Given the description of an element on the screen output the (x, y) to click on. 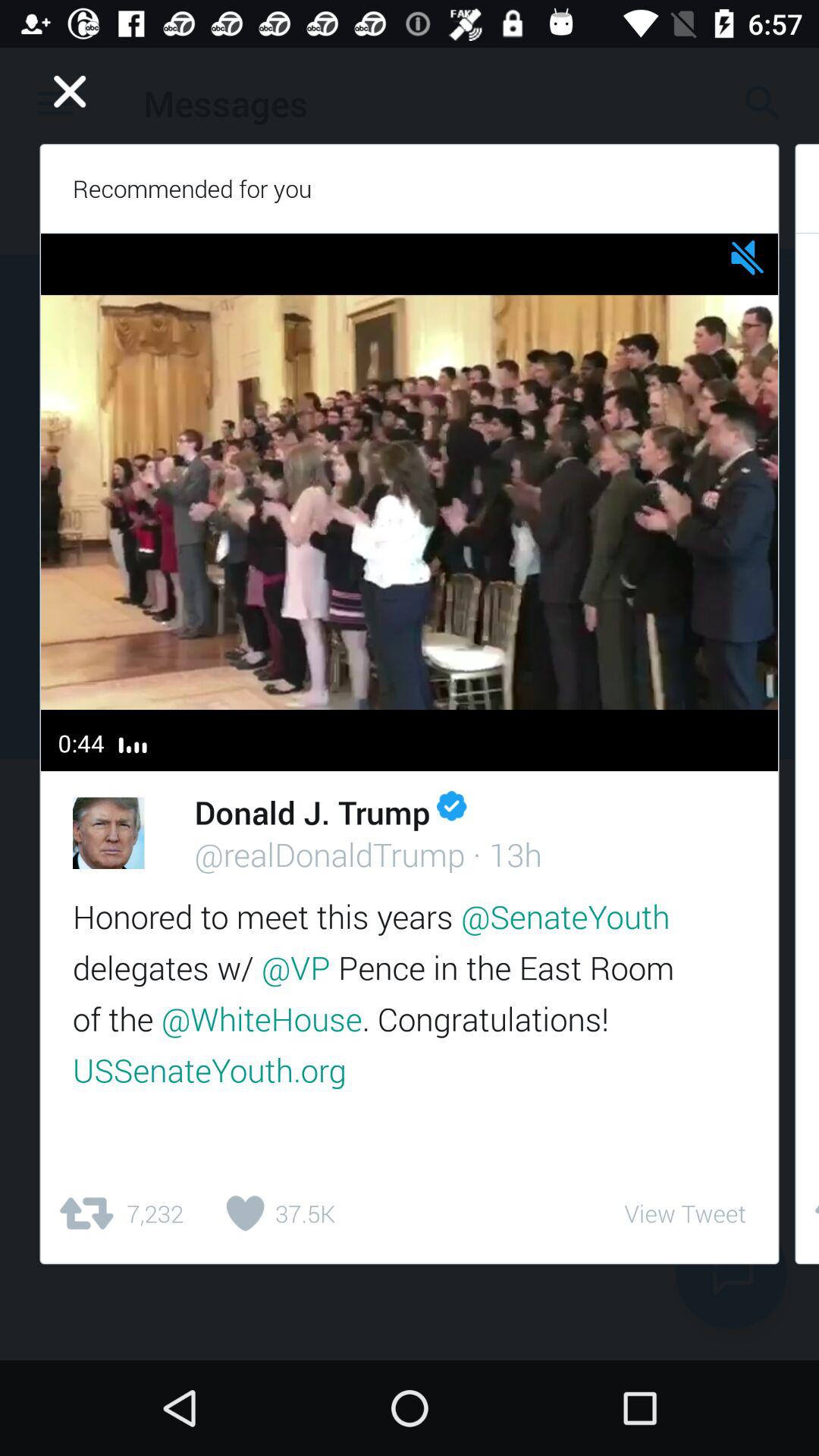
flip until 7,232 item (119, 1213)
